Given the description of an element on the screen output the (x, y) to click on. 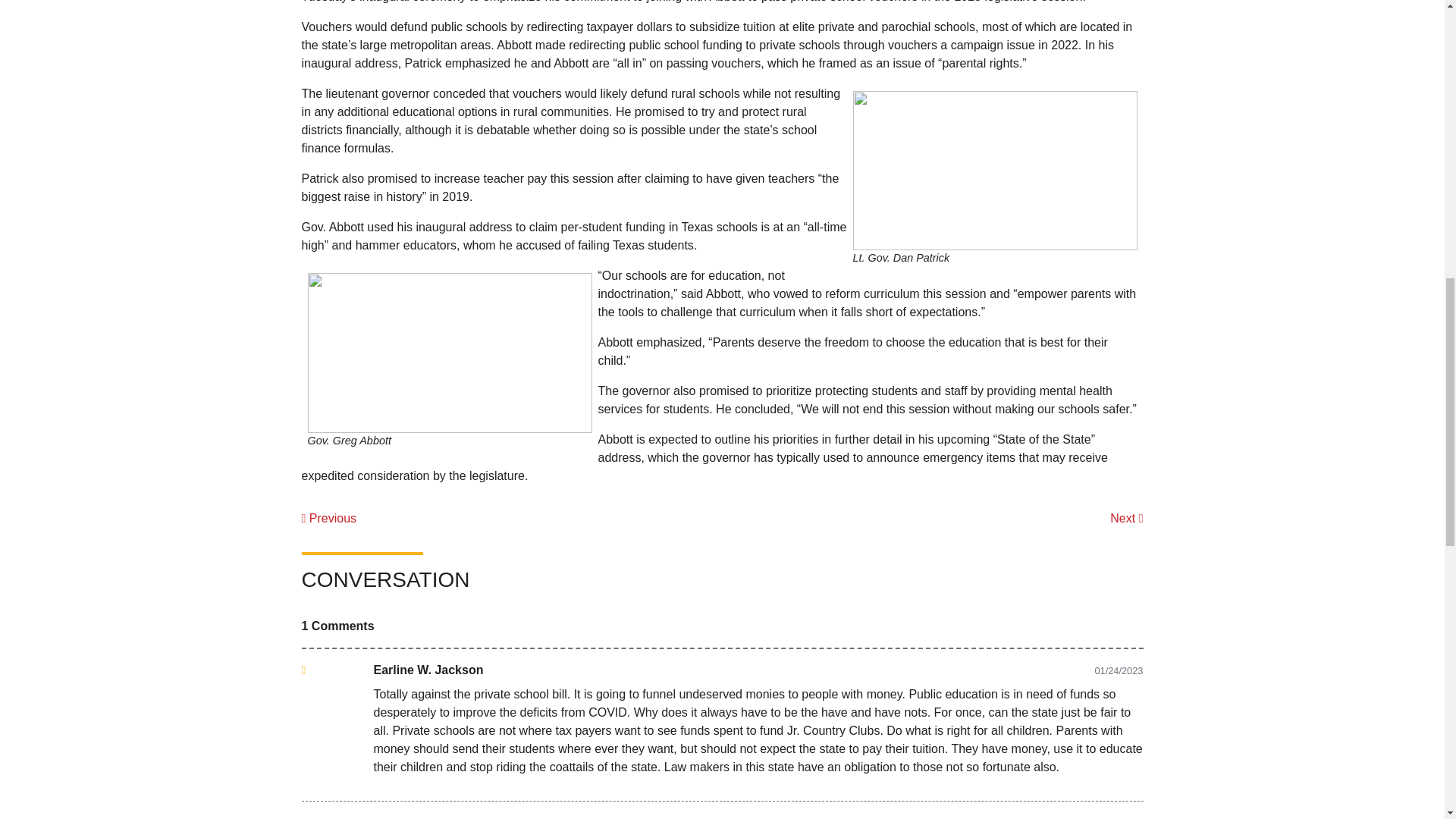
Previous (328, 517)
Next (1125, 517)
